Given the description of an element on the screen output the (x, y) to click on. 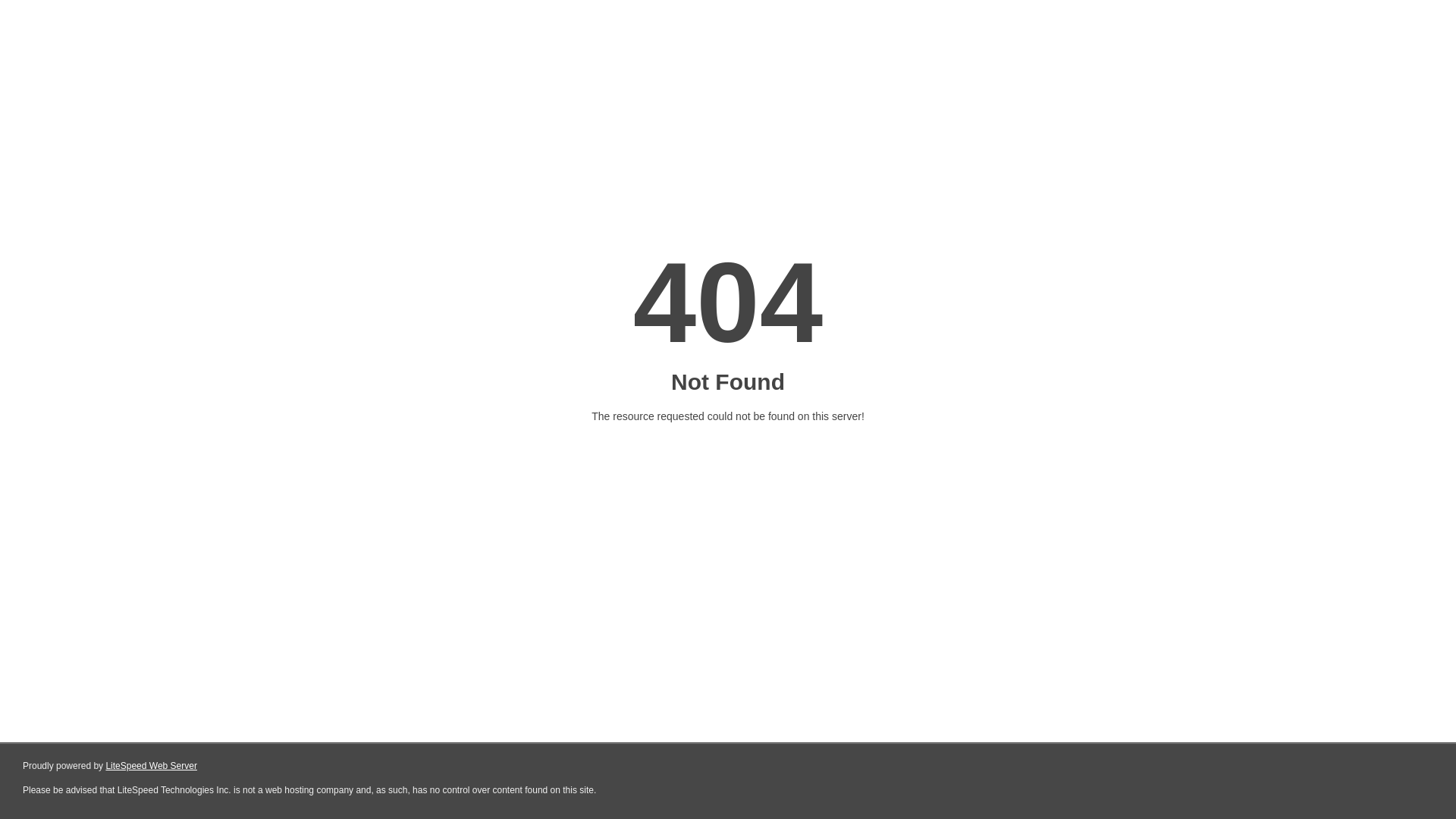
LiteSpeed Web Server Element type: text (151, 765)
